Given the description of an element on the screen output the (x, y) to click on. 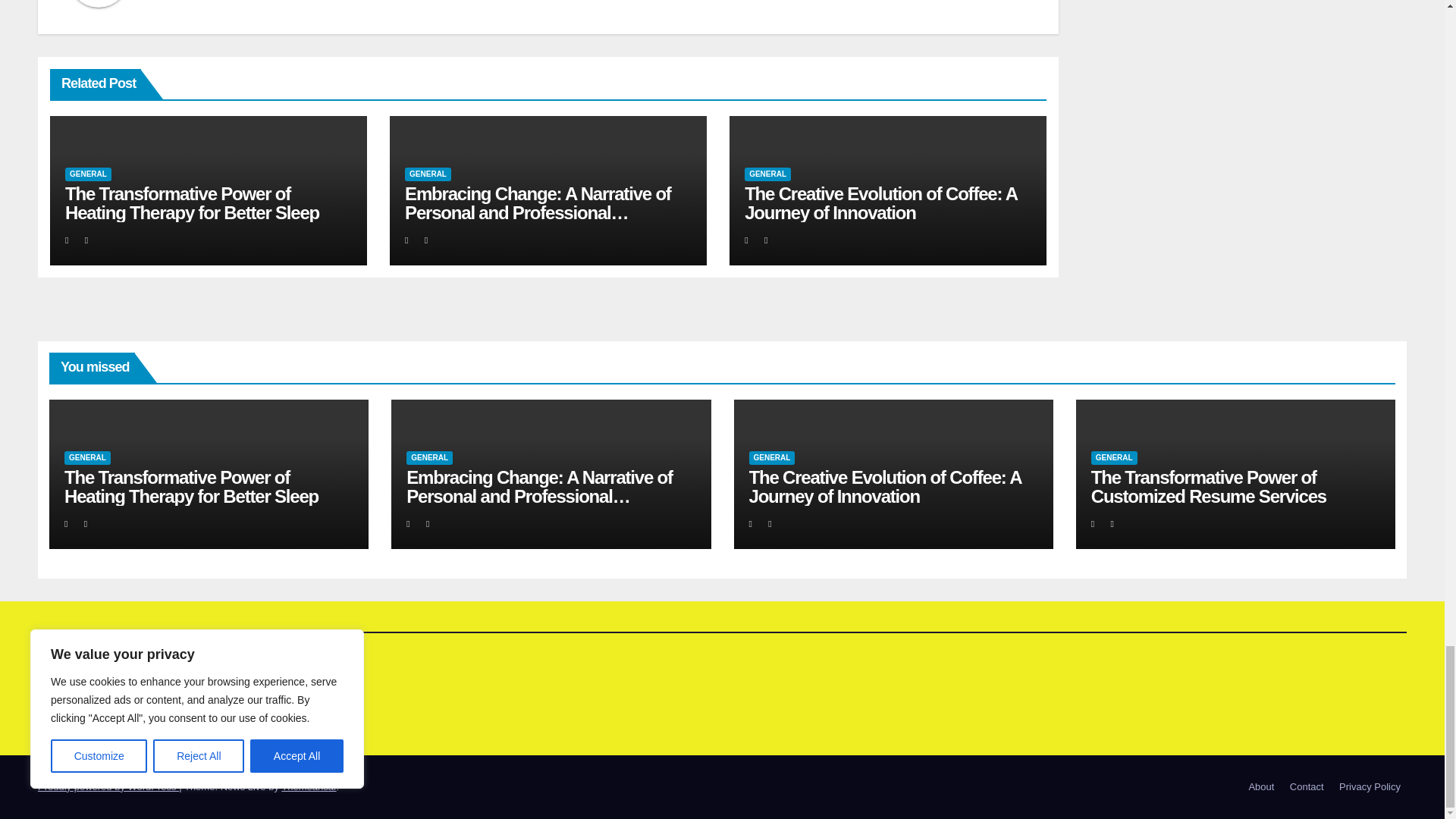
Contact (1307, 786)
About (1260, 786)
Privacy Policy (1369, 786)
